Given the description of an element on the screen output the (x, y) to click on. 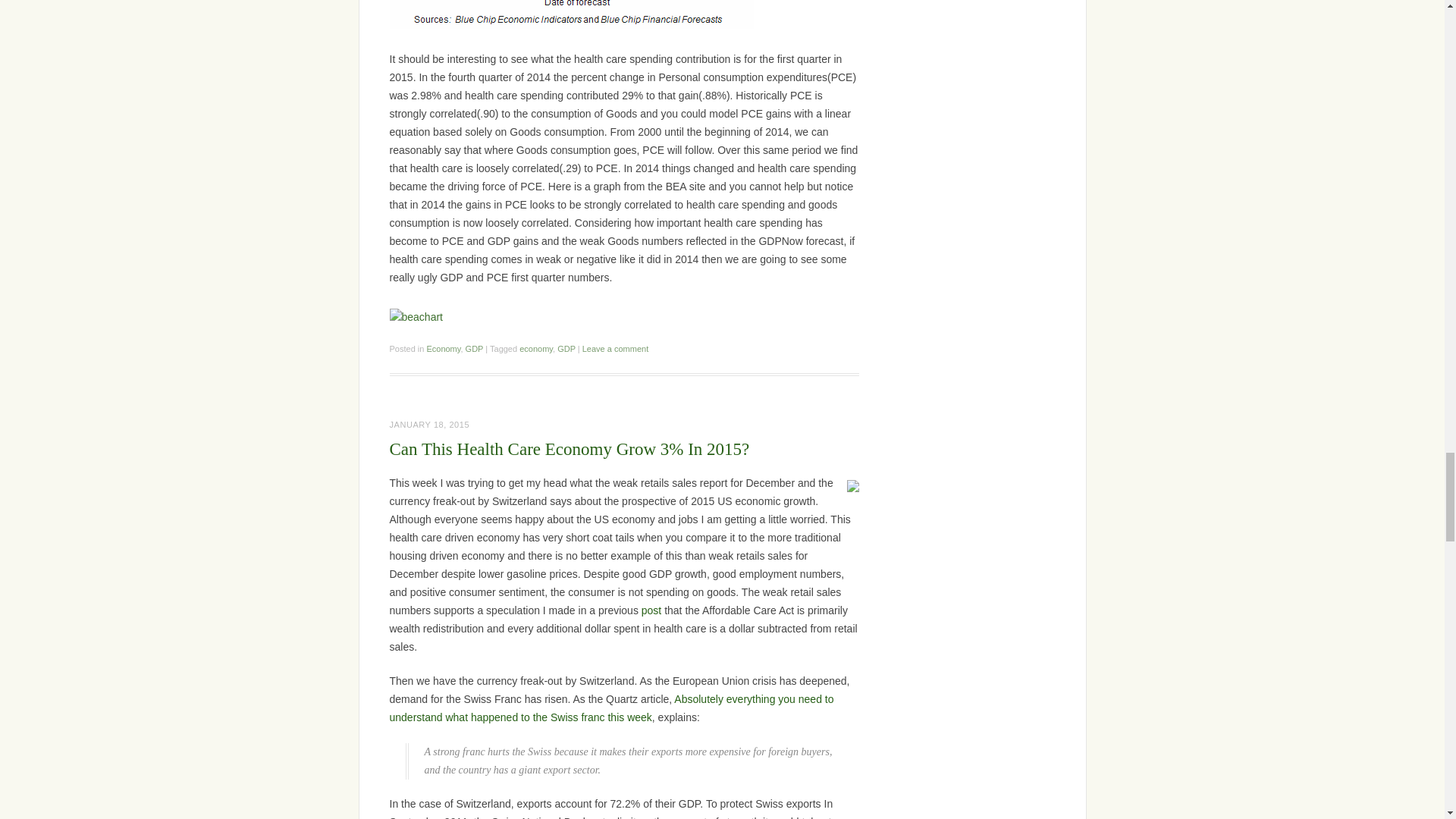
10:16 am (430, 424)
beachart (416, 317)
gdpnow-forecast-evolution20150402 (572, 14)
